Given the description of an element on the screen output the (x, y) to click on. 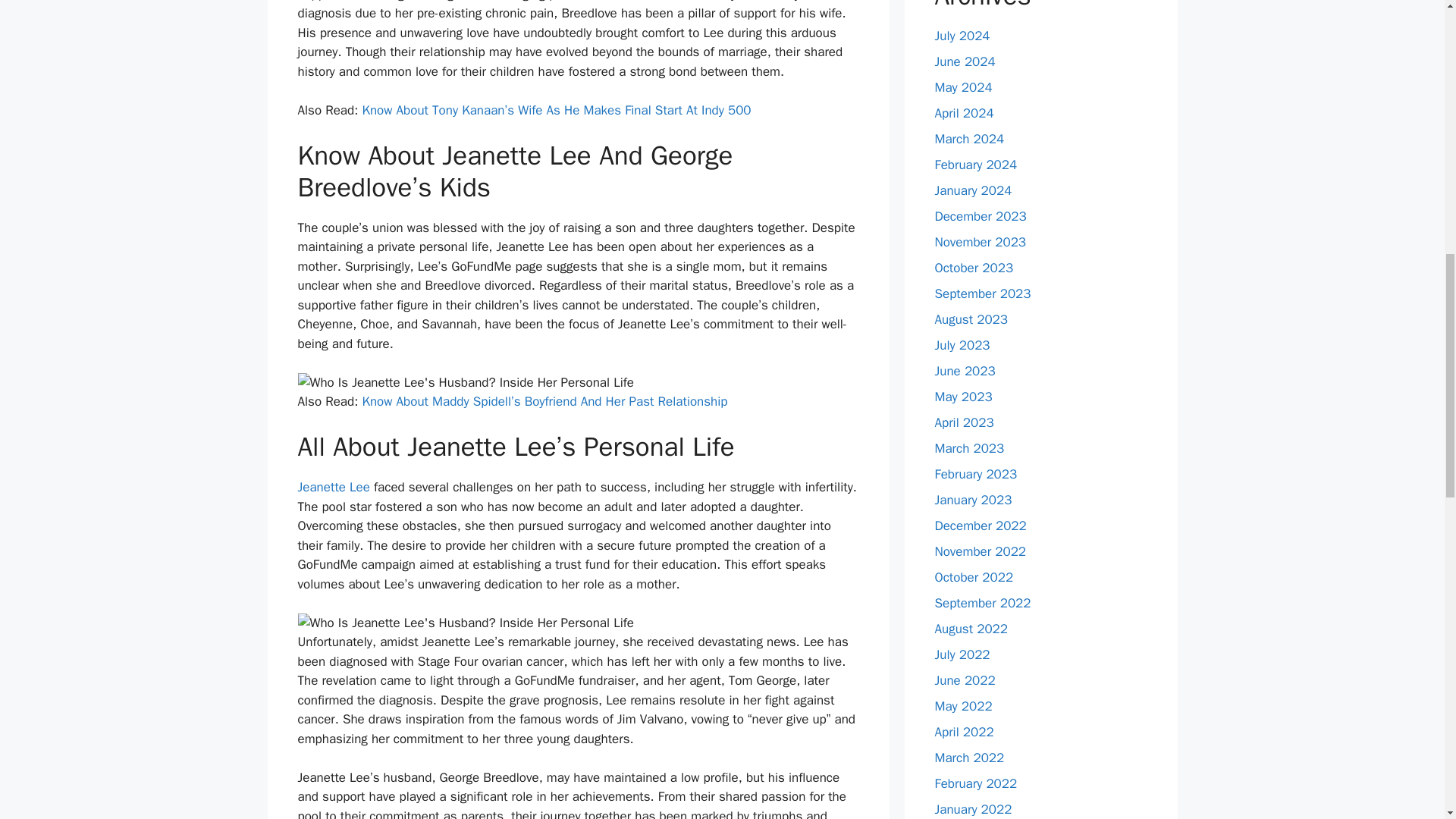
June 2024 (964, 61)
May 2024 (962, 87)
July 2024 (962, 35)
Jeanette Lee (333, 487)
